Given the description of an element on the screen output the (x, y) to click on. 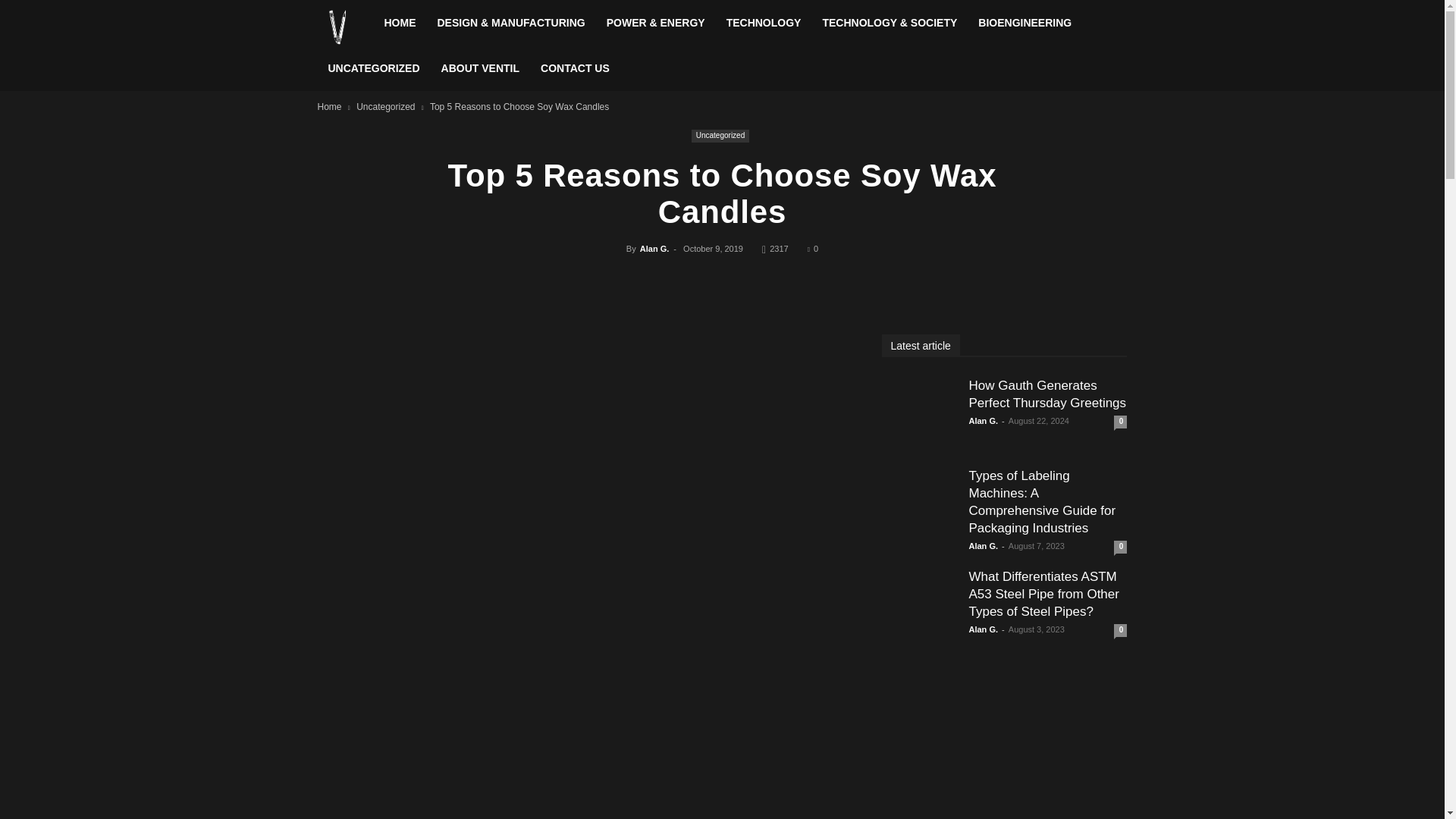
BIOENGINEERING (1024, 22)
Alan G. (654, 248)
Home (328, 106)
0 (813, 248)
Uncategorized (385, 106)
TECHNOLOGY (764, 22)
View all posts in Uncategorized (385, 106)
CONTACT US (574, 67)
ventilengineers.com (344, 26)
Uncategorized (720, 135)
